Given the description of an element on the screen output the (x, y) to click on. 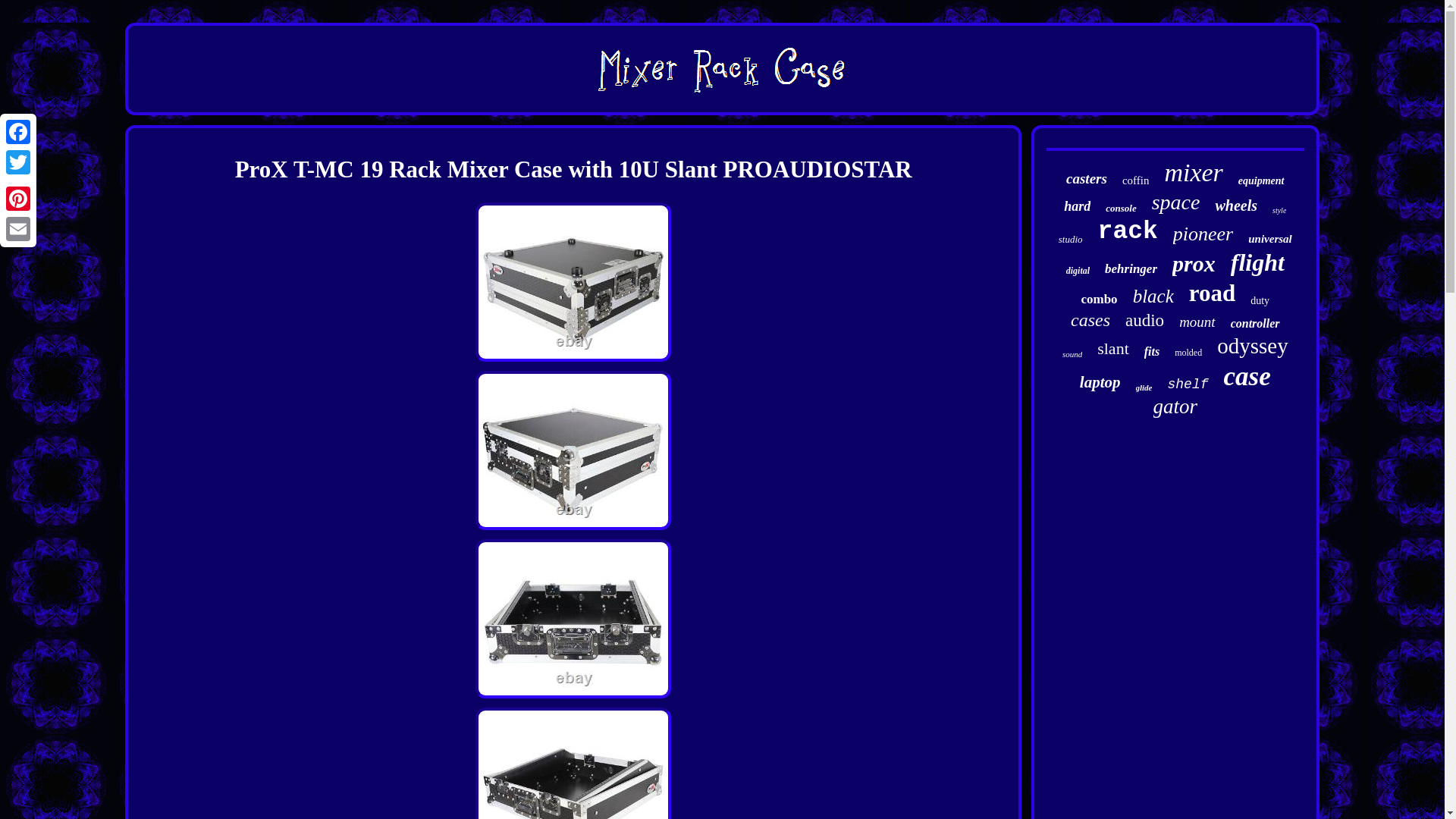
hard (1077, 206)
rack (1127, 231)
flight (1257, 262)
slant (1113, 348)
ProX T-MC 19 Rack Mixer Case with 10U Slant PROAUDIOSTAR (573, 281)
digital (1077, 270)
ProX T-MC 19 Rack Mixer Case with 10U Slant PROAUDIOSTAR (573, 763)
Pinterest (17, 198)
Email (17, 228)
equipment (1261, 181)
